Given the description of an element on the screen output the (x, y) to click on. 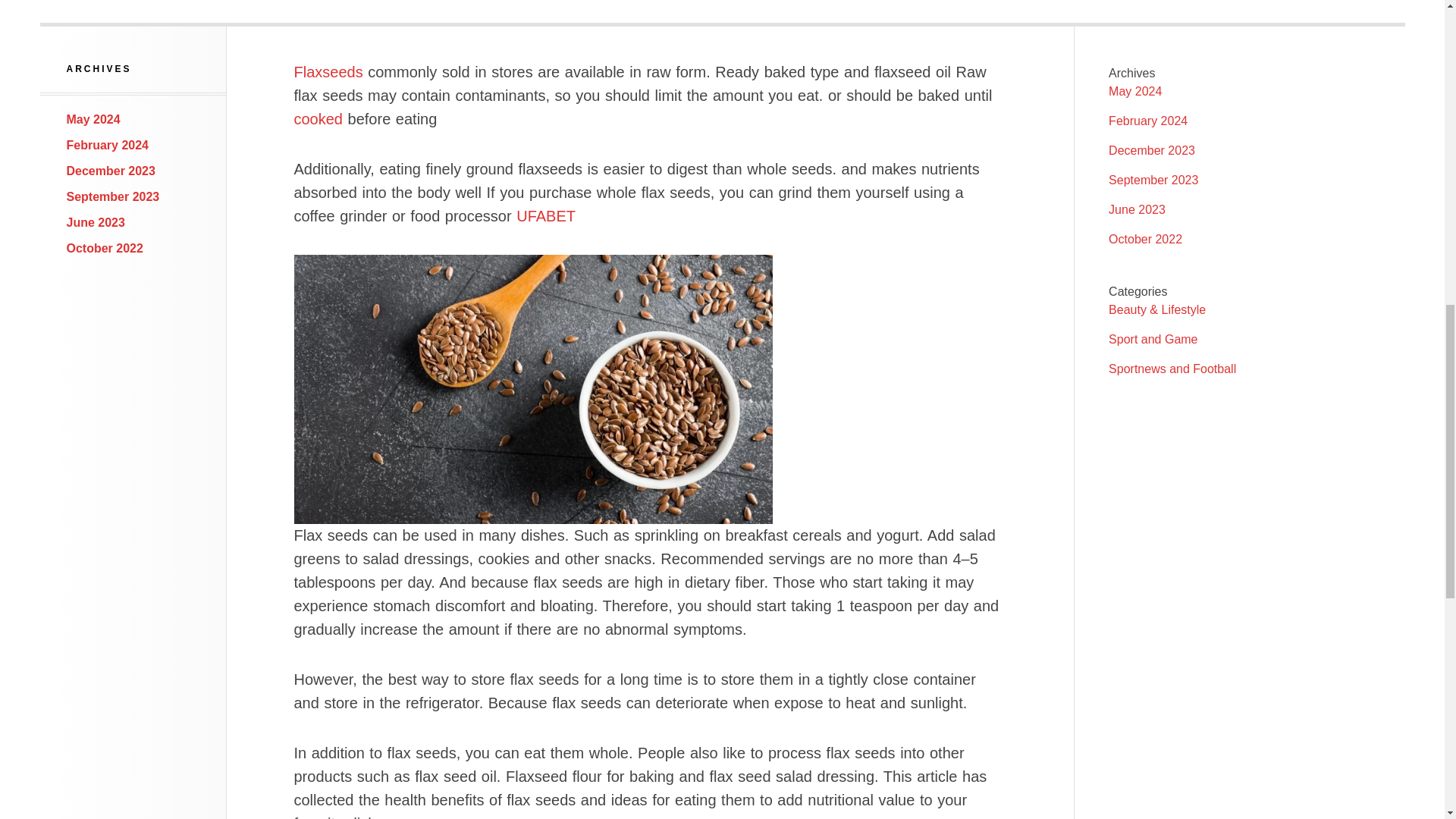
UFABET (545, 216)
June 2023 (95, 222)
February 2024 (107, 144)
December 2023 (110, 170)
cooked (318, 118)
September 2023 (113, 196)
Flaxseeds (328, 71)
October 2022 (104, 247)
May 2024 (93, 119)
